Given the description of an element on the screen output the (x, y) to click on. 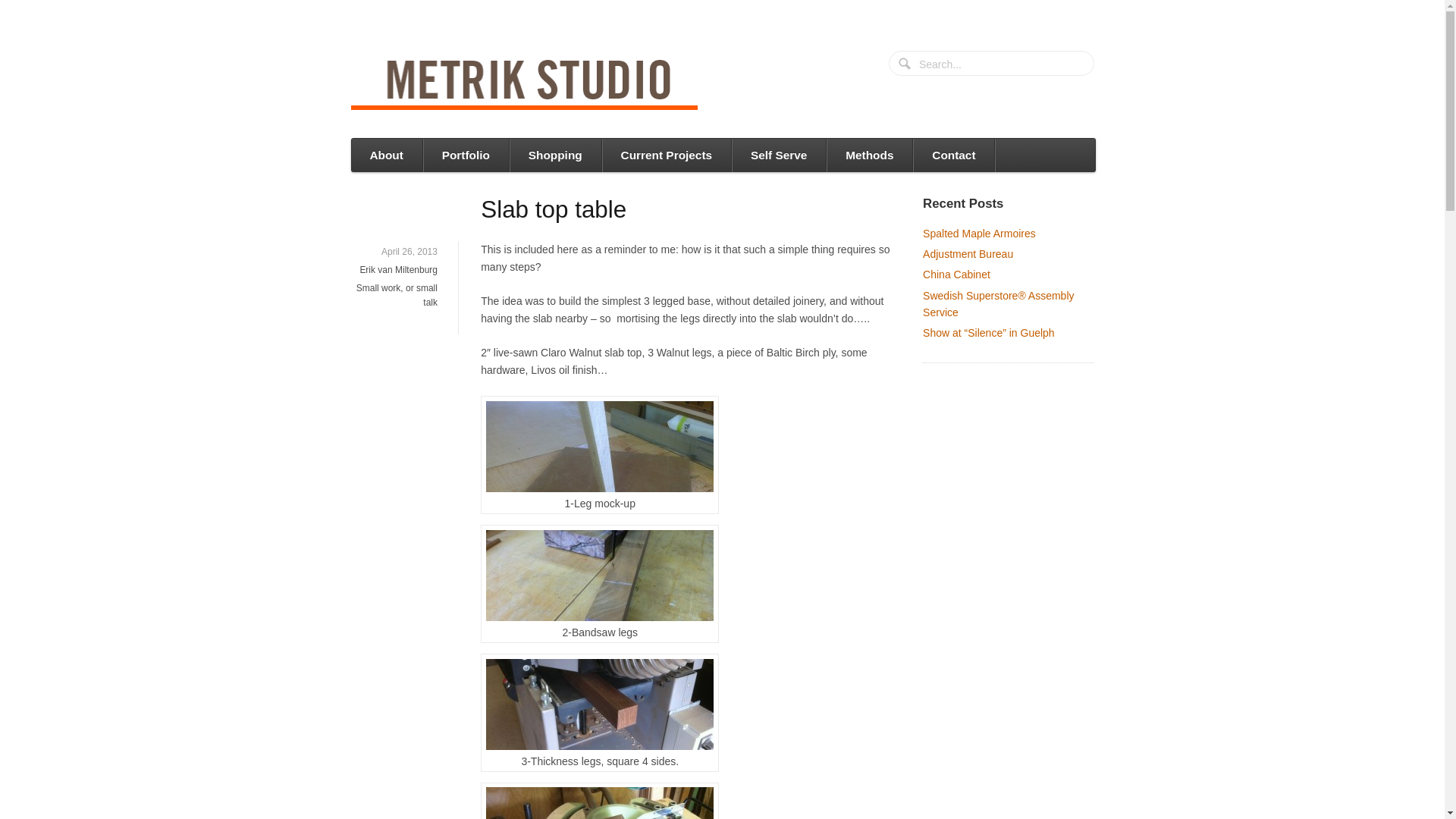
Self Serve (777, 154)
Posts by Erik van Miltenburg (398, 269)
Search (906, 64)
About (386, 154)
Search (906, 64)
Small work, or small talk (397, 294)
Methods (868, 154)
Erik van Miltenburg (398, 269)
Current Projects (665, 154)
Search (906, 64)
Shopping (554, 154)
Portfolio (465, 154)
Contact (953, 154)
